Given the description of an element on the screen output the (x, y) to click on. 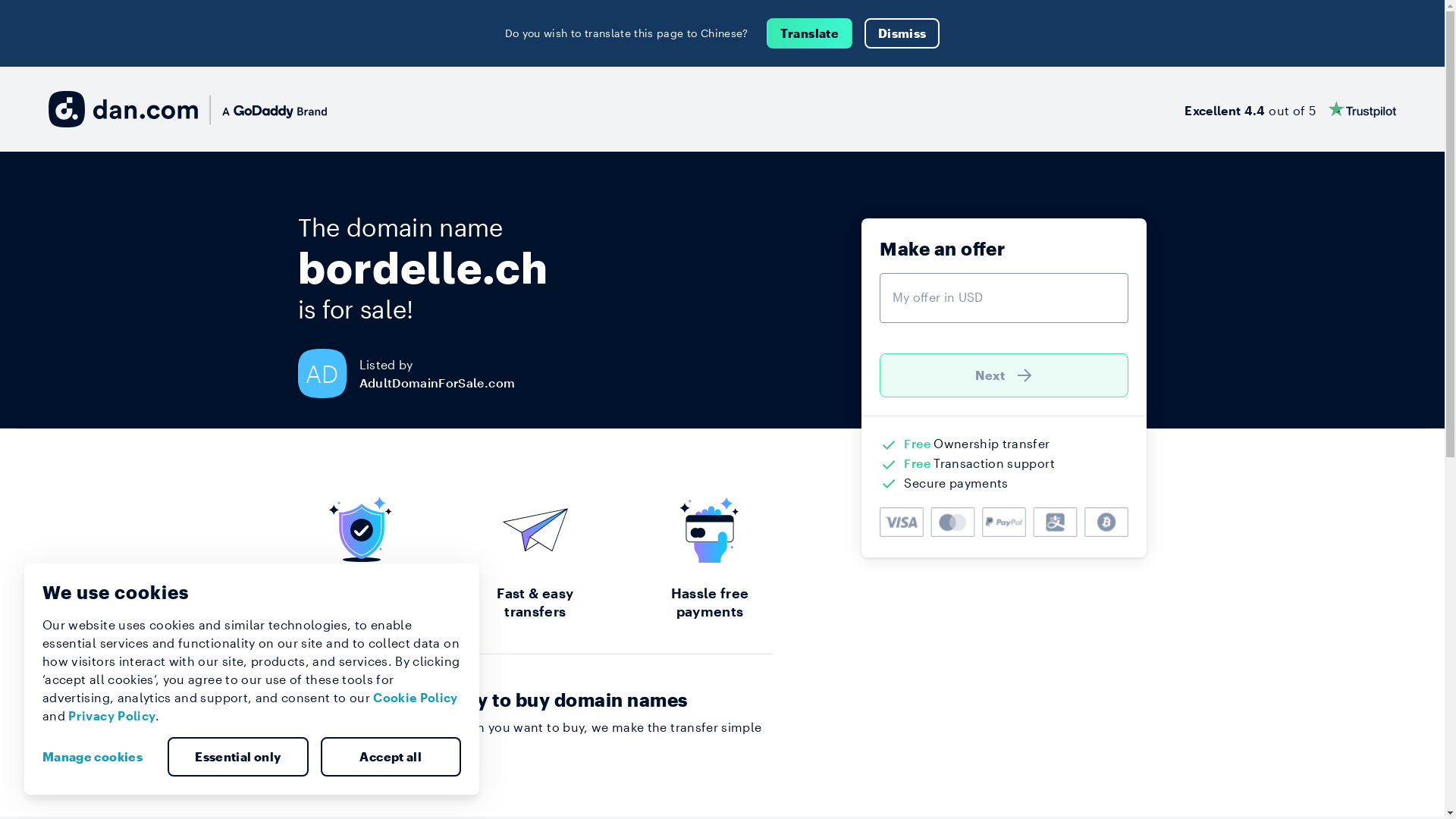
Cookie Policy Element type: text (415, 697)
Privacy Policy Element type: text (111, 715)
Accept all Element type: text (390, 756)
Dismiss Element type: text (901, 33)
Translate Element type: text (809, 33)
Next
) Element type: text (1003, 375)
Manage cookies Element type: text (98, 756)
AD Element type: text (327, 373)
Excellent 4.4 out of 5 Element type: text (1290, 109)
Essential only Element type: text (237, 756)
